Given the description of an element on the screen output the (x, y) to click on. 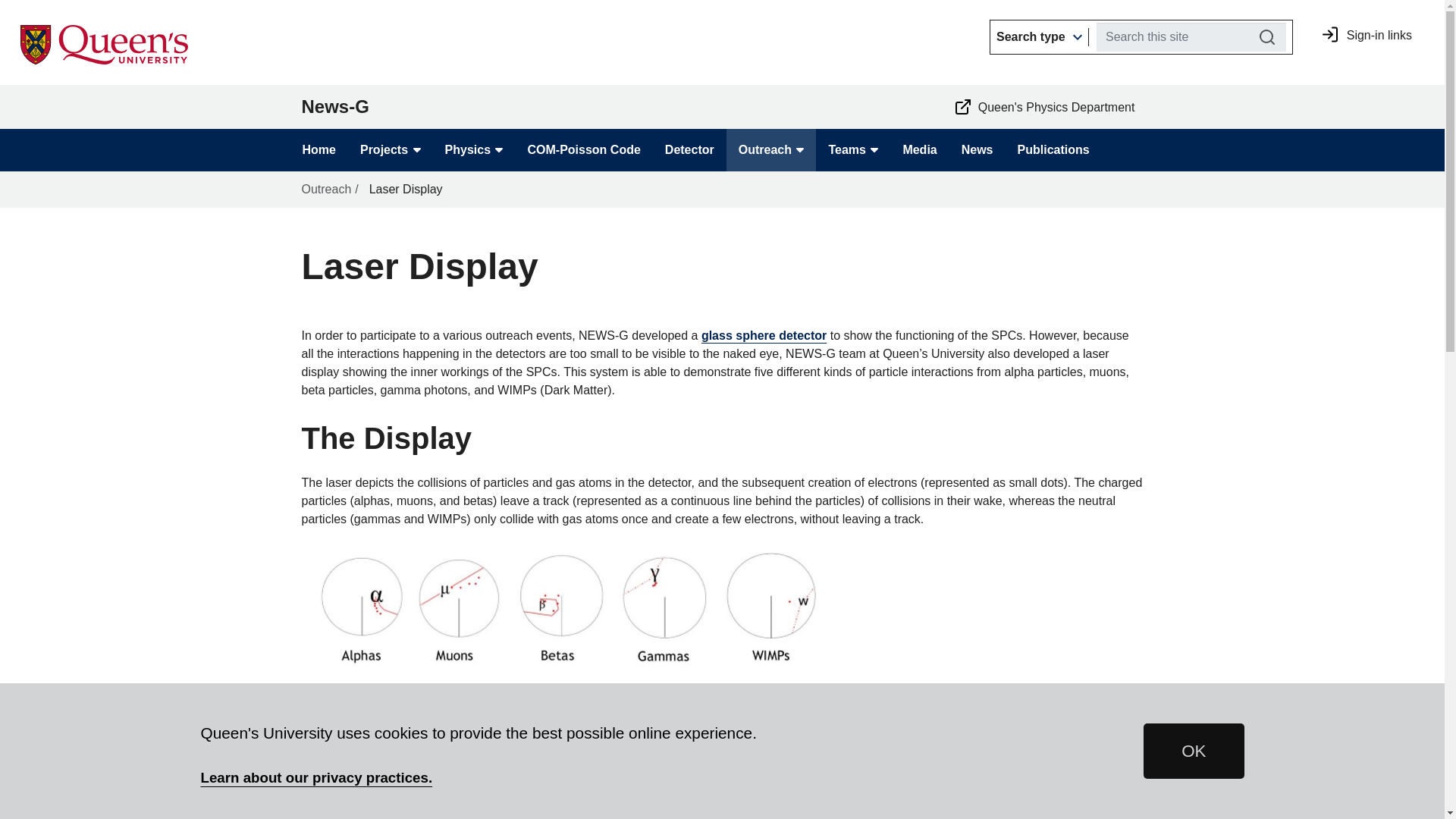
Glass Sphere Detector (764, 335)
